Given the description of an element on the screen output the (x, y) to click on. 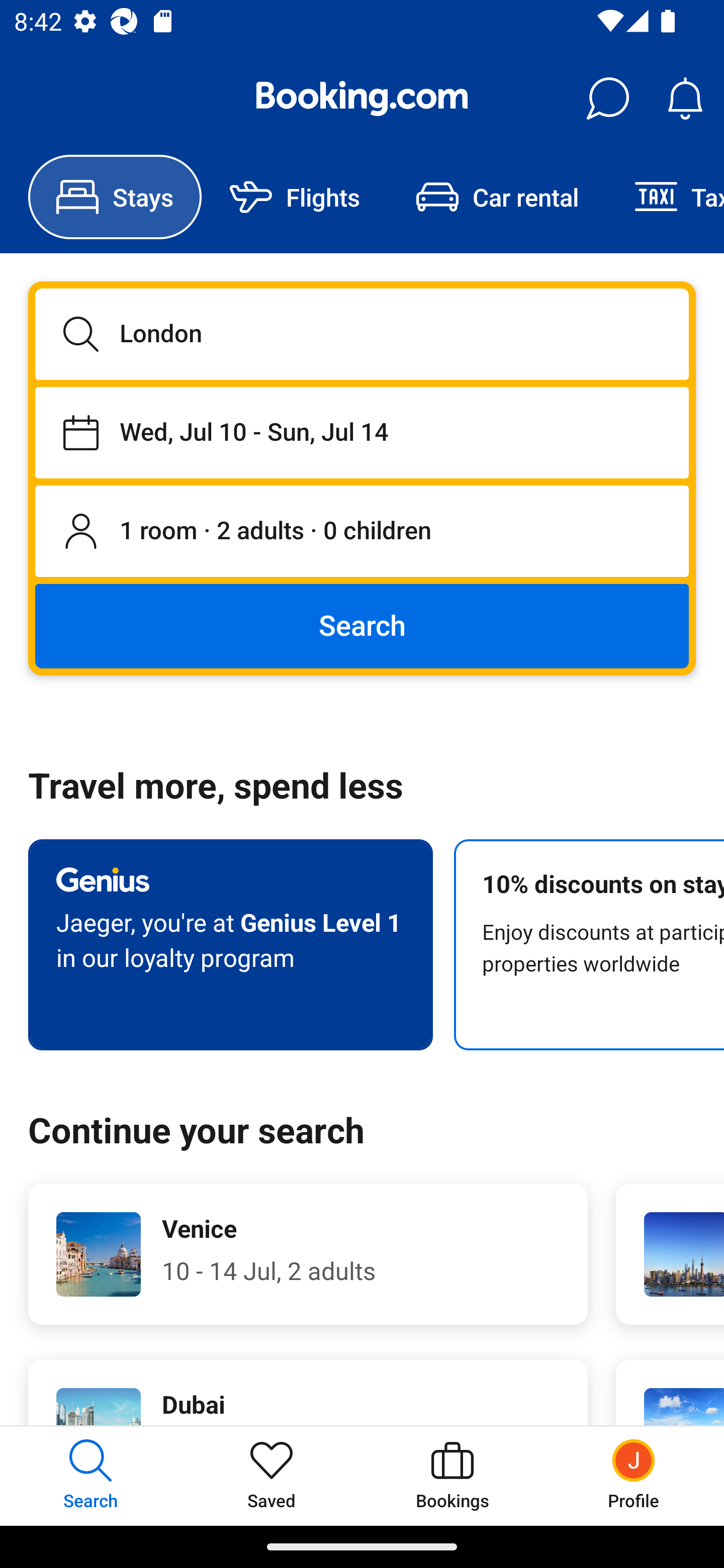
Messages (607, 98)
Notifications (685, 98)
Stays (114, 197)
Flights (294, 197)
Car rental (497, 197)
Taxi (665, 197)
London (361, 333)
Staying from Wed, Jul 10 until Sun, Jul 14 (361, 432)
1 room, 2 adults, 0 children (361, 531)
Search (361, 625)
Venice 10 - 14 Jul, 2 adults (307, 1253)
Saved (271, 1475)
Bookings (452, 1475)
Profile (633, 1475)
